Given the description of an element on the screen output the (x, y) to click on. 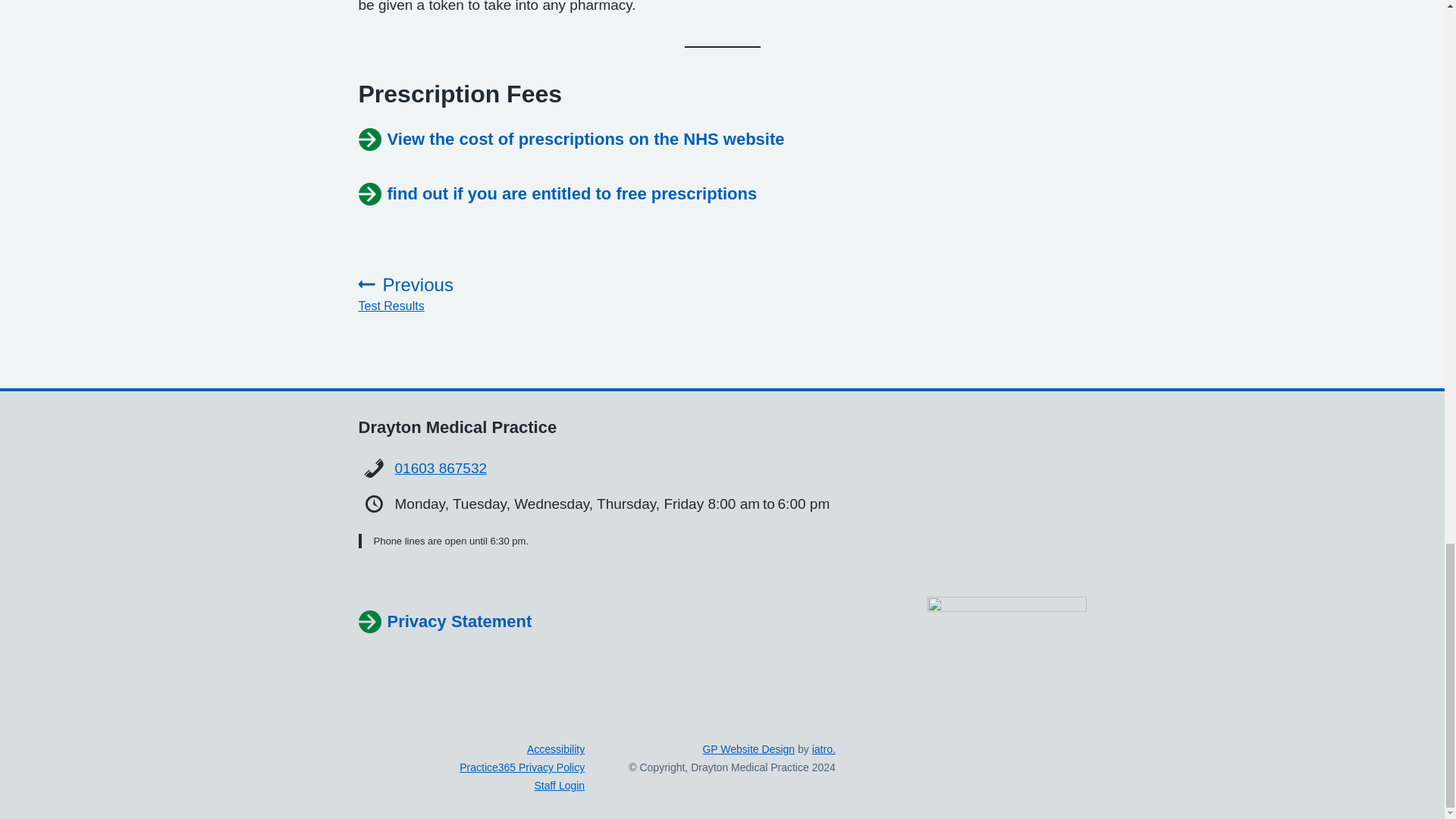
iatro. (823, 748)
find out if you are entitled to free prescriptions (557, 193)
Accessibility (556, 748)
Staff Login (559, 785)
View the cost of prescriptions on the NHS website (571, 139)
Practice365 Privacy Policy (467, 293)
01603 867532 (522, 767)
Privacy Statement (440, 467)
GP Website Design (444, 621)
